Given the description of an element on the screen output the (x, y) to click on. 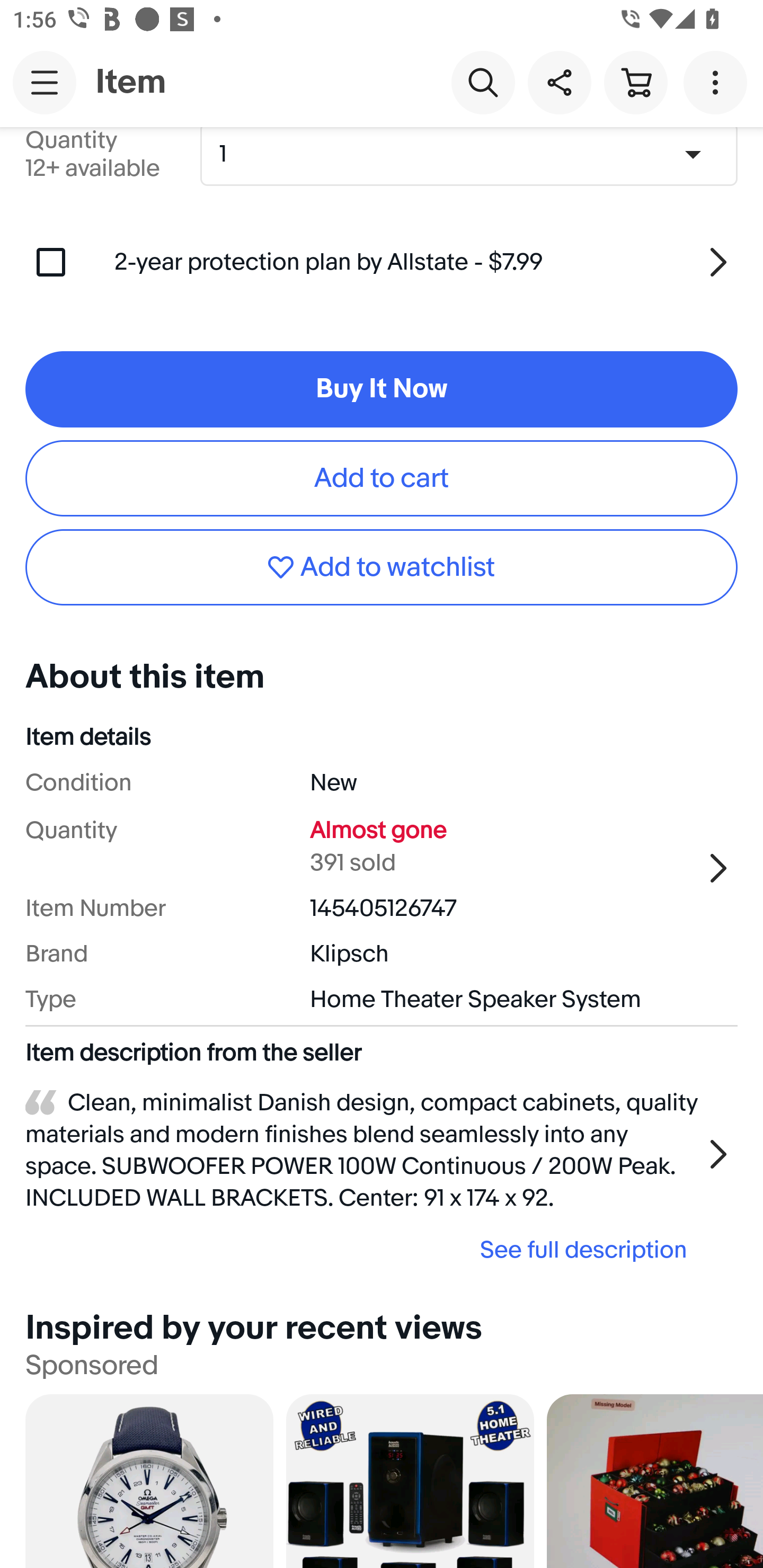
Main navigation, open (44, 82)
Search (482, 81)
Share this item (559, 81)
Cart button shopping cart (635, 81)
More options (718, 81)
Quantity,1,12+ available 1 (474, 153)
2-year protection plan by Allstate - $7.99 (425, 261)
Buy It Now (381, 389)
Add to cart (381, 477)
Add to watchlist (381, 567)
See full description (362, 1248)
